Given the description of an element on the screen output the (x, y) to click on. 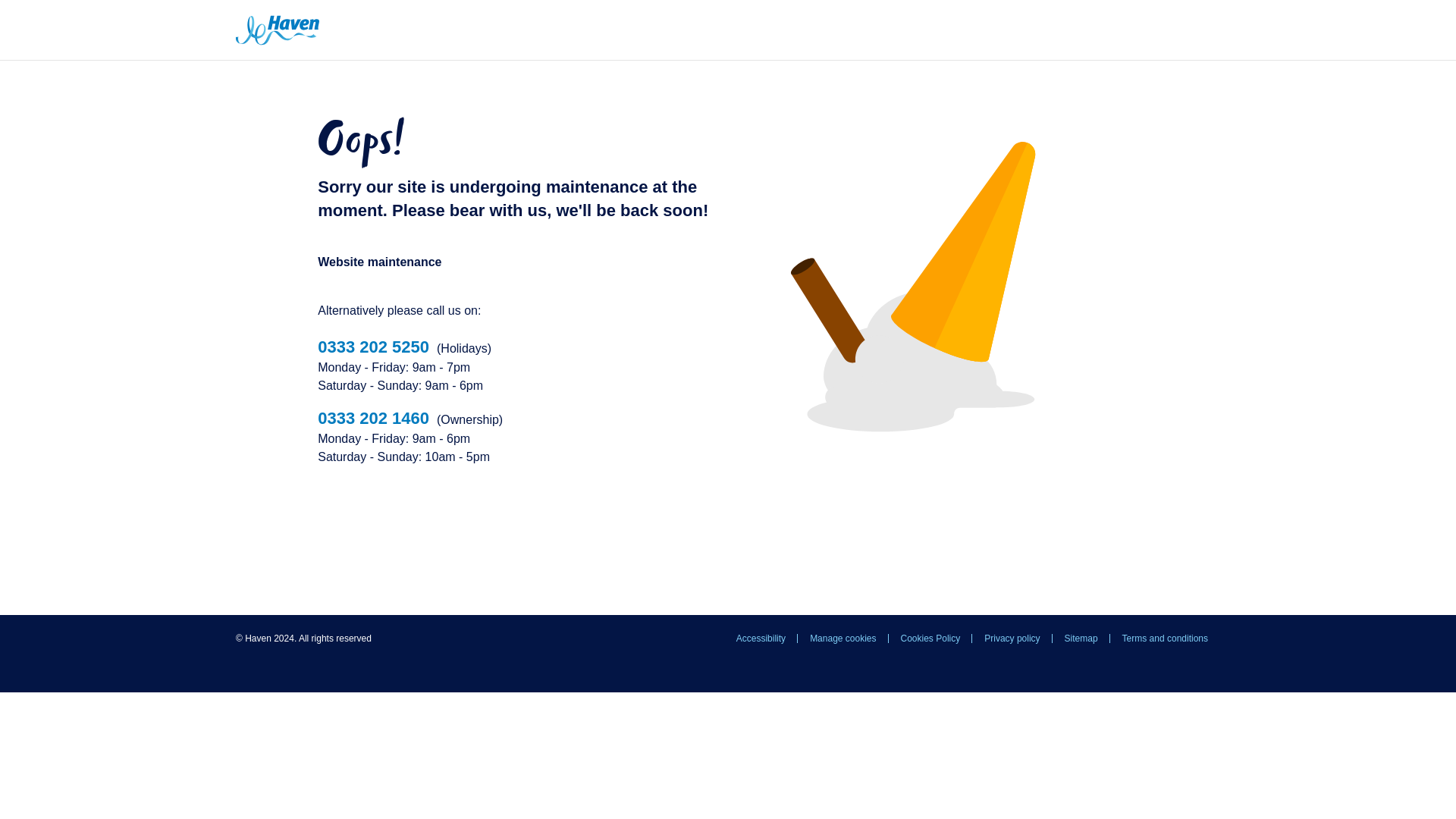
Terms and conditions (1164, 638)
Cookies Policy (930, 638)
0333 202 5250 (373, 346)
Manage cookies (842, 638)
Sitemap (1080, 638)
0333 202 1460 (373, 417)
Privacy policy (1011, 638)
Accessibility (760, 638)
